Given the description of an element on the screen output the (x, y) to click on. 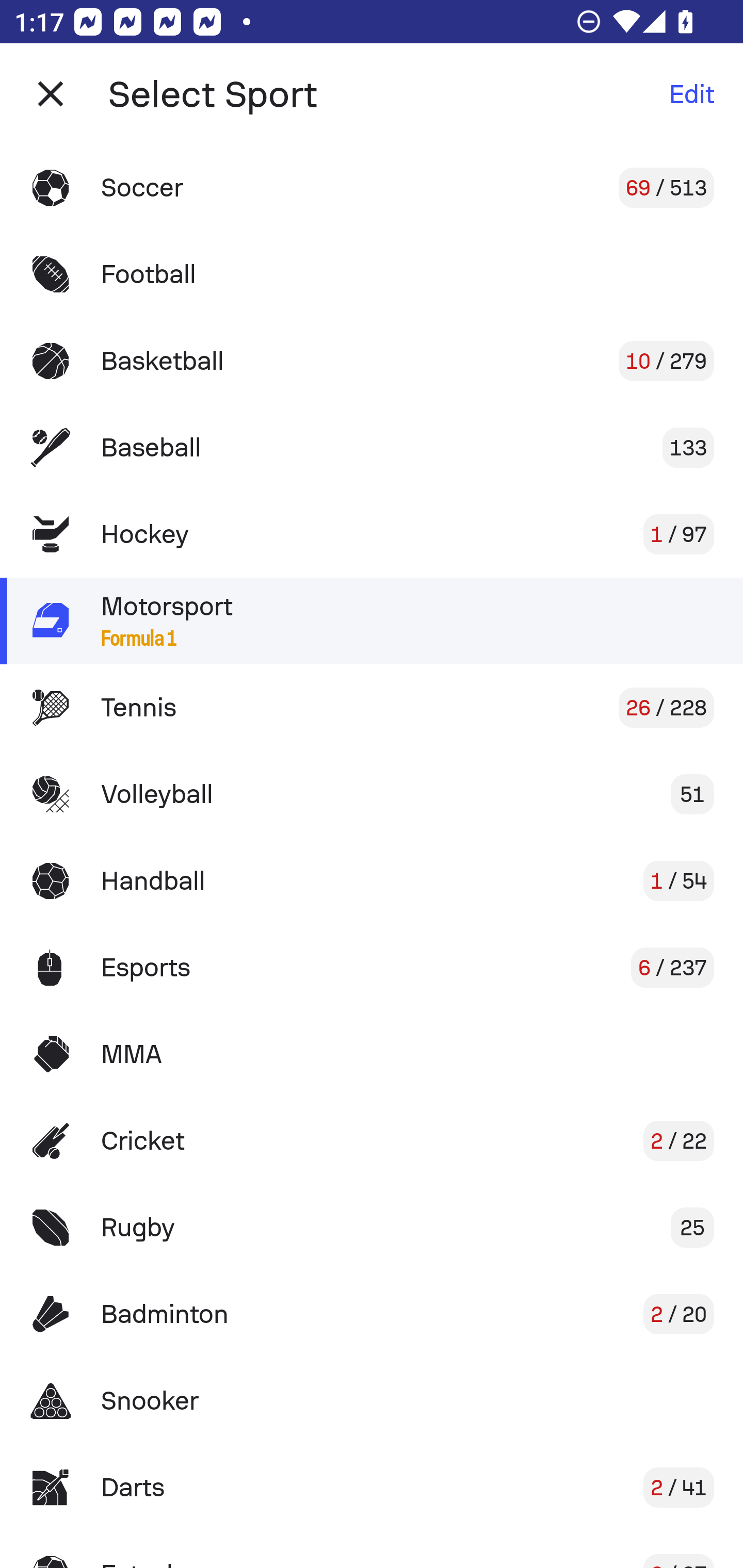
Edit (691, 93)
Soccer 69 / 513 (371, 187)
Football (371, 274)
Basketball 10 / 279 (371, 361)
Baseball 133 (371, 447)
Hockey 1 / 97 (371, 533)
Motorsport Formula 1 (371, 620)
Tennis 26 / 228 (371, 707)
Volleyball 51 (371, 794)
Handball 1 / 54 (371, 880)
Esports 6 / 237 (371, 967)
MMA (371, 1054)
Cricket 2 / 22 (371, 1140)
Rugby 25 (371, 1227)
Badminton 2 / 20 (371, 1314)
Snooker (371, 1400)
Darts 2 / 41 (371, 1487)
